Given the description of an element on the screen output the (x, y) to click on. 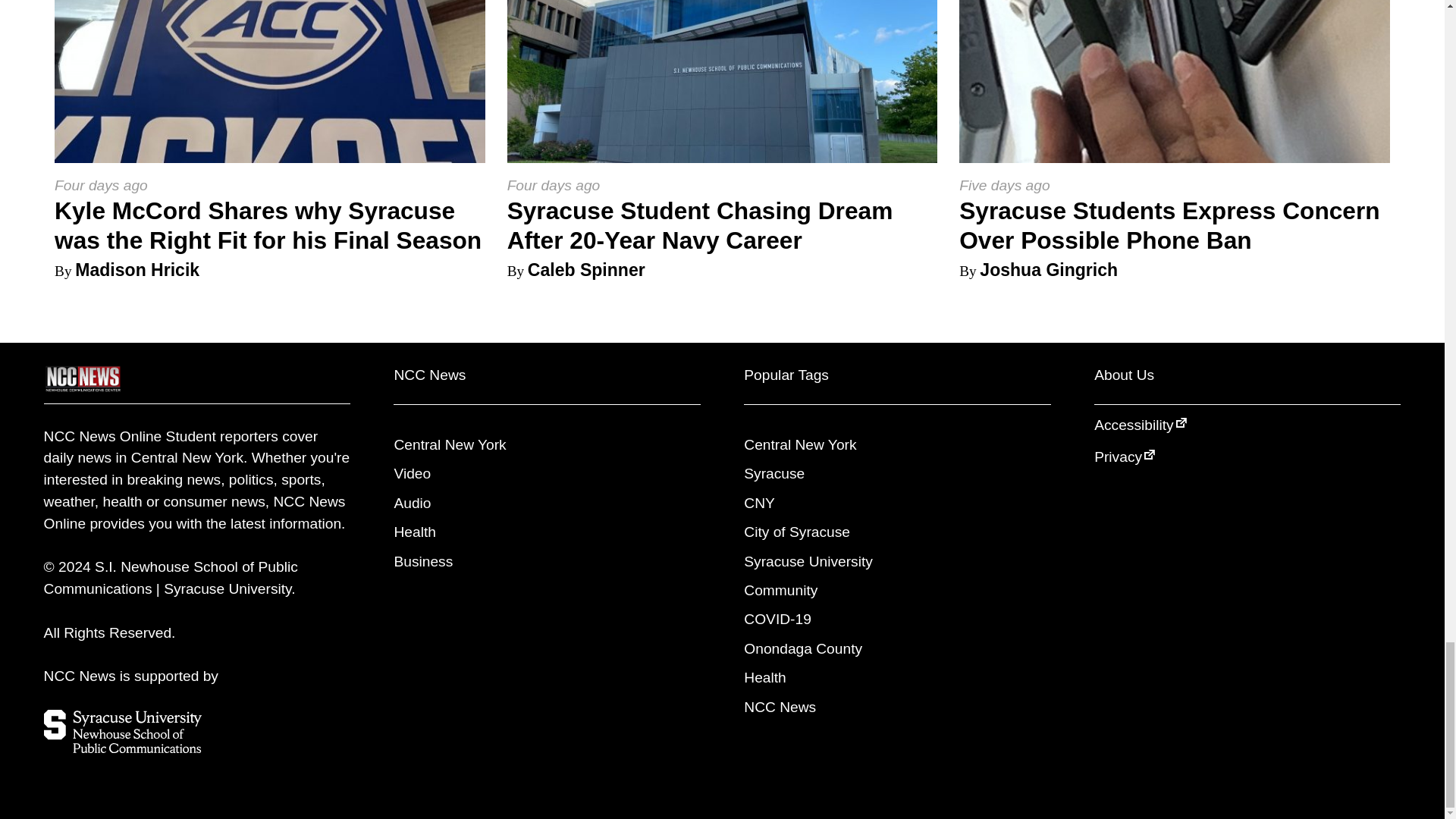
Audio (411, 503)
Video (411, 473)
NCC News (779, 706)
CNY (759, 503)
Community (780, 590)
City of Syracuse (797, 531)
Business (422, 561)
COVID-19 (777, 618)
Syracuse University (808, 561)
